Given the description of an element on the screen output the (x, y) to click on. 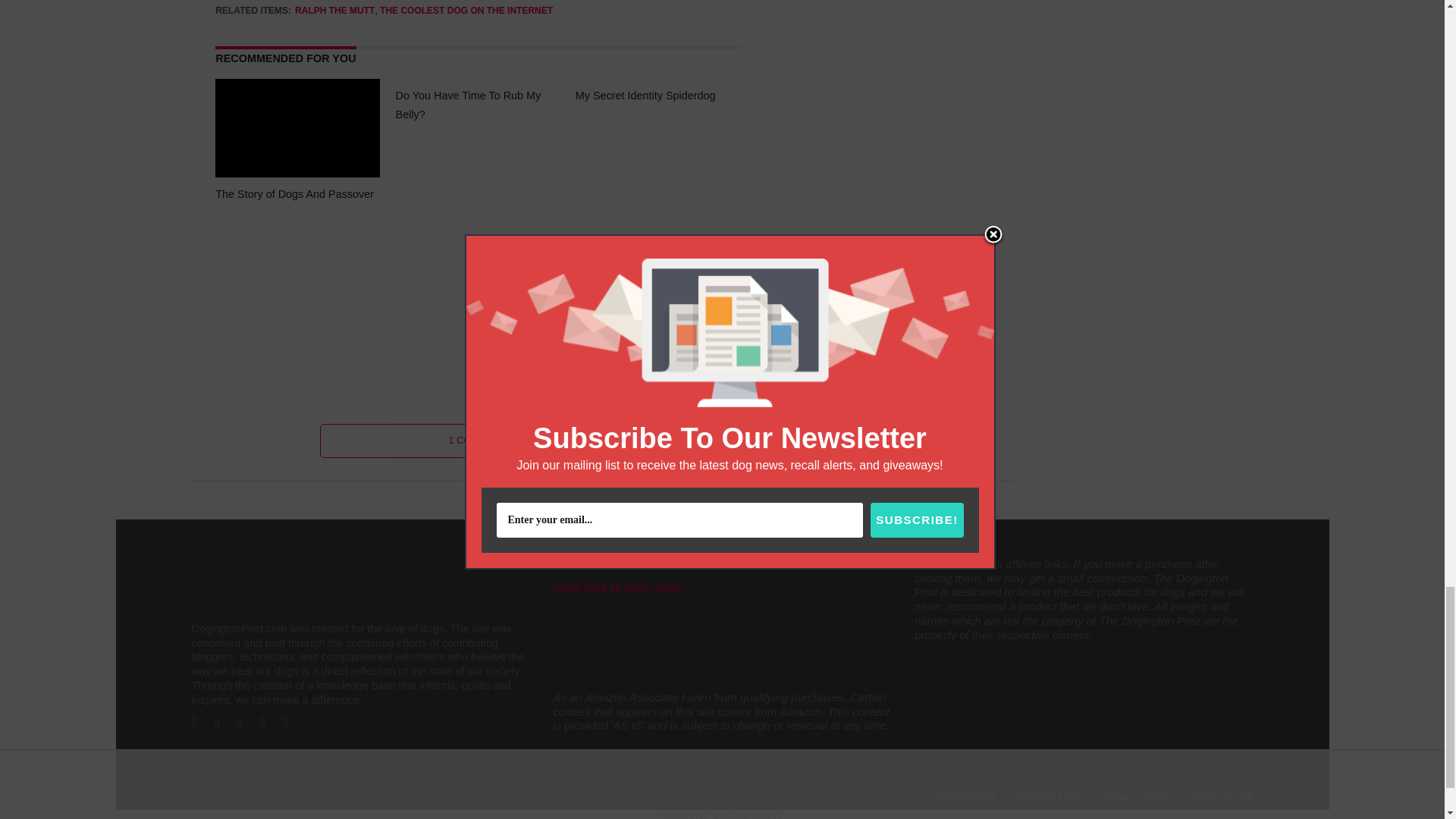
The Story of Dogs And Passover (297, 173)
The Story Of Dogs And Passover 4 (297, 127)
